Given the description of an element on the screen output the (x, y) to click on. 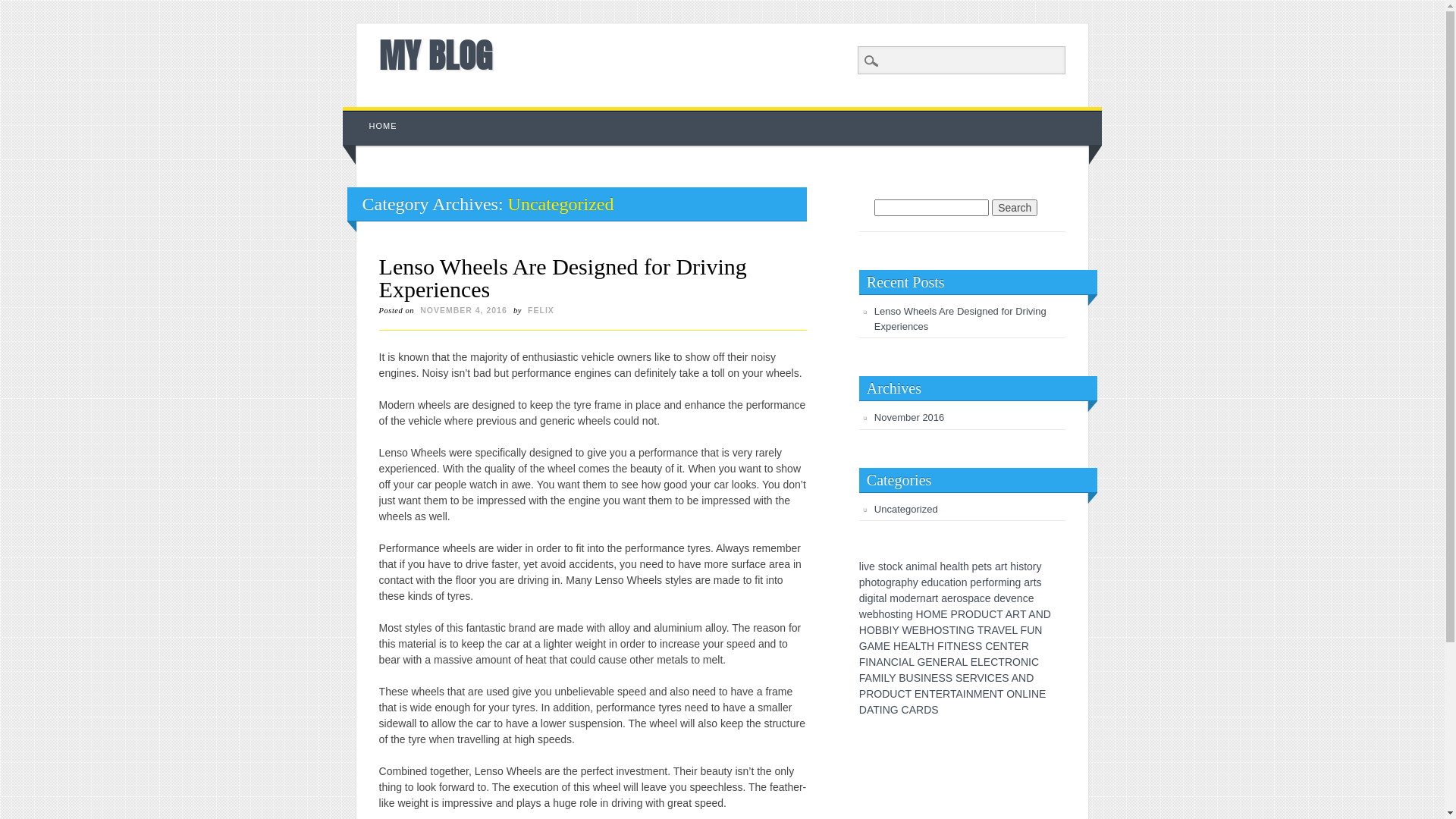
d Element type: text (907, 598)
e Element type: text (1002, 598)
y Element type: text (915, 582)
o Element type: text (901, 598)
N Element type: text (962, 630)
e Element type: text (1013, 598)
A Element type: text (912, 709)
D Element type: text (1029, 677)
N Element type: text (1003, 646)
i Element type: text (874, 598)
f Element type: text (986, 582)
T Element type: text (1000, 693)
MY BLOG Element type: text (435, 55)
F Element type: text (862, 661)
A Element type: text (958, 693)
o Element type: text (1029, 566)
l Element type: text (935, 566)
c Element type: text (982, 598)
e Element type: text (988, 598)
o Element type: text (887, 614)
o Element type: text (873, 582)
T Element type: text (875, 709)
R Element type: text (1015, 614)
p Element type: text (970, 598)
e Element type: text (913, 598)
S Element type: text (971, 646)
V Element type: text (980, 677)
A Element type: text (910, 646)
T Element type: text (1010, 646)
t Element type: text (1005, 566)
C Element type: text (992, 614)
a Element type: text (997, 566)
D Element type: text (885, 693)
I Element type: text (1029, 661)
G Element type: text (863, 646)
A Element type: text (869, 709)
s Element type: text (964, 598)
H Element type: text (929, 630)
s Element type: text (1038, 582)
r Element type: text (1031, 582)
a Element type: text (954, 566)
R Element type: text (1025, 646)
C Element type: text (990, 677)
S Element type: text (978, 646)
N Element type: text (969, 693)
F Element type: text (940, 646)
w Element type: text (862, 614)
S Element type: text (934, 709)
i Element type: text (862, 566)
a Element type: text (931, 566)
E Element type: text (995, 646)
t Element type: text (896, 614)
A Element type: text (1014, 677)
i Element type: text (899, 614)
O Element type: text (1016, 661)
E Element type: text (903, 646)
F Element type: text (1023, 630)
M Element type: text (876, 677)
E Element type: text (997, 677)
l Element type: text (958, 566)
b Element type: text (875, 614)
I Element type: text (1029, 693)
N Element type: text (886, 709)
N Element type: text (1022, 677)
e Element type: text (869, 614)
d Element type: text (929, 582)
e Element type: text (980, 566)
i Element type: text (954, 582)
D Element type: text (977, 614)
l Element type: text (885, 598)
N Element type: text (887, 661)
o Element type: text (889, 566)
E Element type: text (1007, 630)
C Element type: text (894, 661)
E Element type: text (943, 614)
O Element type: text (927, 614)
P Element type: text (862, 693)
N Element type: text (924, 693)
s Element type: text (1020, 566)
T Element type: text (950, 646)
B Element type: text (878, 630)
d Element type: text (996, 598)
u Element type: text (935, 582)
N Element type: text (956, 646)
E Element type: text (973, 661)
t Element type: text (876, 598)
C Element type: text (900, 693)
I Element type: text (880, 709)
t Element type: text (884, 566)
A Element type: text (994, 630)
T Element type: text (908, 693)
E Element type: text (985, 693)
H Element type: text (896, 646)
n Element type: text (1019, 598)
h Element type: text (1013, 566)
N Element type: text (927, 677)
s Element type: text (880, 566)
E Element type: text (934, 677)
T Element type: text (952, 630)
s Element type: text (892, 614)
O Element type: text (969, 614)
T Element type: text (980, 630)
L Element type: text (1013, 630)
G Element type: text (970, 630)
e Element type: text (872, 566)
A Element type: text (957, 661)
D Element type: text (862, 709)
h Element type: text (966, 566)
R Element type: text (869, 693)
R Element type: text (946, 693)
U Element type: text (984, 614)
F Element type: text (862, 677)
a Element type: text (928, 598)
r Element type: text (1002, 566)
T Element type: text (923, 646)
a Element type: text (897, 582)
t Element type: text (877, 582)
t Element type: text (1024, 566)
Lenso Wheels Are Designed for Driving Experiences Element type: text (960, 318)
a Element type: text (908, 566)
g Element type: text (888, 582)
H Element type: text (919, 614)
S Element type: text (916, 677)
p Element type: text (975, 566)
Search Element type: text (1014, 207)
e Element type: text (950, 598)
y Element type: text (1038, 566)
i Element type: text (918, 566)
N Element type: text (936, 661)
I Element type: text (921, 677)
e Element type: text (978, 582)
R Element type: text (961, 614)
E Element type: text (928, 661)
r Element type: text (983, 582)
E Element type: text (1016, 646)
g Element type: text (870, 598)
m Element type: text (923, 566)
FELIX Element type: text (541, 309)
E Element type: text (986, 661)
o Element type: text (959, 598)
p Element type: text (903, 582)
R Element type: text (987, 630)
E Element type: text (938, 693)
S Element type: text (941, 677)
L Element type: text (964, 661)
a Element type: text (947, 582)
C Element type: text (1034, 661)
S Element type: text (958, 677)
N Element type: text (1024, 661)
T Element type: text (1000, 661)
l Element type: text (860, 566)
a Element type: text (881, 598)
C Element type: text (993, 661)
E Element type: text (886, 646)
E Element type: text (943, 661)
O Element type: text (937, 630)
W Element type: text (906, 630)
r Element type: text (933, 598)
I Element type: text (882, 677)
S Element type: text (1004, 677)
I Element type: text (866, 661)
v Element type: text (866, 566)
n Element type: text (1012, 582)
h Element type: text (868, 582)
a Element type: text (976, 598)
B Element type: text (922, 630)
G Element type: text (920, 661)
N Element type: text (1037, 630)
D Element type: text (1047, 614)
T Element type: text (953, 693)
E Element type: text (915, 630)
e Element type: text (948, 566)
n Element type: text (964, 582)
M Element type: text (977, 693)
A Element type: text (1031, 614)
R Element type: text (1008, 661)
d Element type: text (862, 598)
p Element type: text (862, 582)
t Element type: text (984, 566)
t Element type: text (936, 598)
c Element type: text (894, 566)
Uncategorized Element type: text (906, 508)
V Element type: text (1000, 630)
A Element type: text (1008, 614)
m Element type: text (893, 598)
I Element type: text (899, 661)
A Element type: text (870, 646)
E Element type: text (1041, 693)
R Element type: text (919, 709)
Y Element type: text (894, 630)
A Element type: text (868, 677)
B Element type: text (884, 630)
A Element type: text (904, 661)
L Element type: text (910, 661)
p Element type: text (972, 582)
h Element type: text (881, 614)
I Element type: text (956, 630)
R Element type: text (973, 677)
O Element type: text (1010, 693)
O Element type: text (877, 693)
I Element type: text (985, 677)
t Element type: text (1034, 582)
G Element type: text (894, 709)
o Element type: text (882, 582)
c Element type: text (1025, 598)
t Element type: text (951, 582)
M Element type: text (936, 614)
r Element type: text (995, 582)
r Element type: text (917, 598)
Lenso Wheels Are Designed for Driving Experiences Element type: text (562, 277)
A Element type: text (878, 661)
I Element type: text (889, 630)
s Element type: text (988, 566)
N Element type: text (993, 693)
L Element type: text (1025, 693)
a Element type: text (1026, 582)
L Element type: text (885, 677)
M Element type: text (878, 646)
t Element type: text (961, 566)
E Element type: text (917, 693)
g Element type: text (909, 614)
e Element type: text (1031, 598)
O Element type: text (870, 630)
g Element type: text (1018, 582)
h Element type: text (909, 582)
HOME Element type: text (383, 125)
H Element type: text (930, 646)
N Element type: text (1018, 693)
U Element type: text (909, 677)
E Element type: text (963, 646)
S Element type: text (944, 630)
i Element type: text (866, 598)
a Element type: text (944, 598)
T Element type: text (1022, 614)
NOVEMBER 4, 2016 Element type: text (463, 309)
v Element type: text (1007, 598)
i Element type: text (1017, 566)
Skip to content Element type: text (377, 114)
P Element type: text (953, 614)
o Element type: text (991, 582)
L Element type: text (917, 646)
D Element type: text (927, 709)
I Element type: text (964, 693)
r Element type: text (1034, 566)
N Element type: text (1039, 614)
k Element type: text (899, 566)
r Element type: text (955, 598)
r Element type: text (893, 582)
H Element type: text (862, 630)
L Element type: text (980, 661)
Y Element type: text (891, 677)
B Element type: text (901, 677)
N Element type: text (1034, 693)
c Element type: text (941, 582)
U Element type: text (1030, 630)
T Element type: text (999, 614)
m Element type: text (1002, 582)
e Element type: text (924, 582)
R Element type: text (950, 661)
o Element type: text (958, 582)
N Element type: text (871, 661)
C Element type: text (905, 709)
i Element type: text (1008, 582)
h Element type: text (943, 566)
Search Element type: text (22, 8)
T Element type: text (931, 693)
n Element type: text (903, 614)
S Element type: text (948, 677)
November 2016 Element type: text (909, 417)
n Element type: text (922, 598)
n Element type: text (914, 566)
I Element type: text (945, 646)
U Element type: text (893, 693)
C Element type: text (988, 646)
E Element type: text (965, 677)
